Given the description of an element on the screen output the (x, y) to click on. 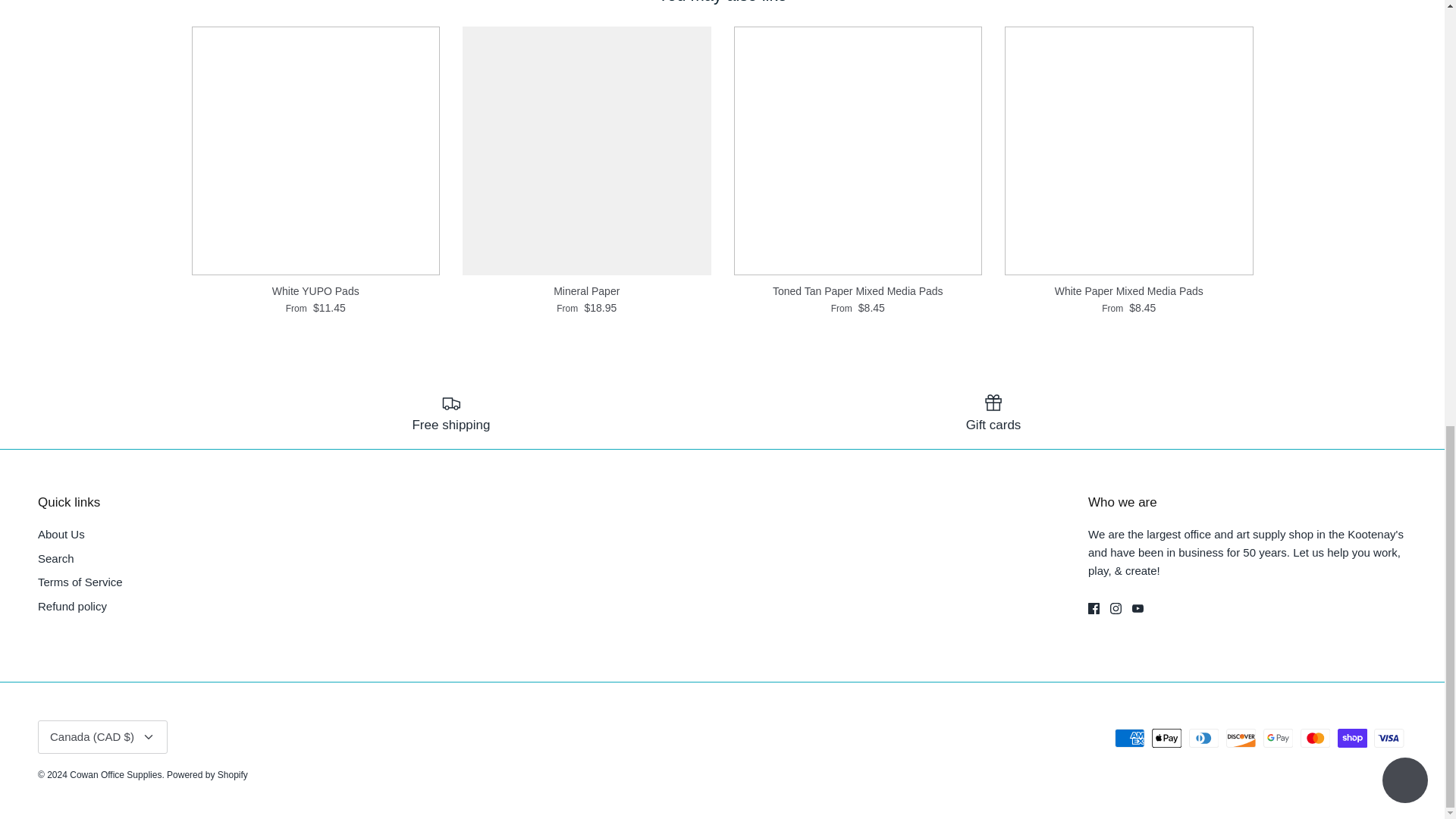
Apple Pay (1166, 737)
American Express (1129, 737)
Instagram (1115, 608)
Youtube (1137, 608)
Facebook (1093, 608)
